Given the description of an element on the screen output the (x, y) to click on. 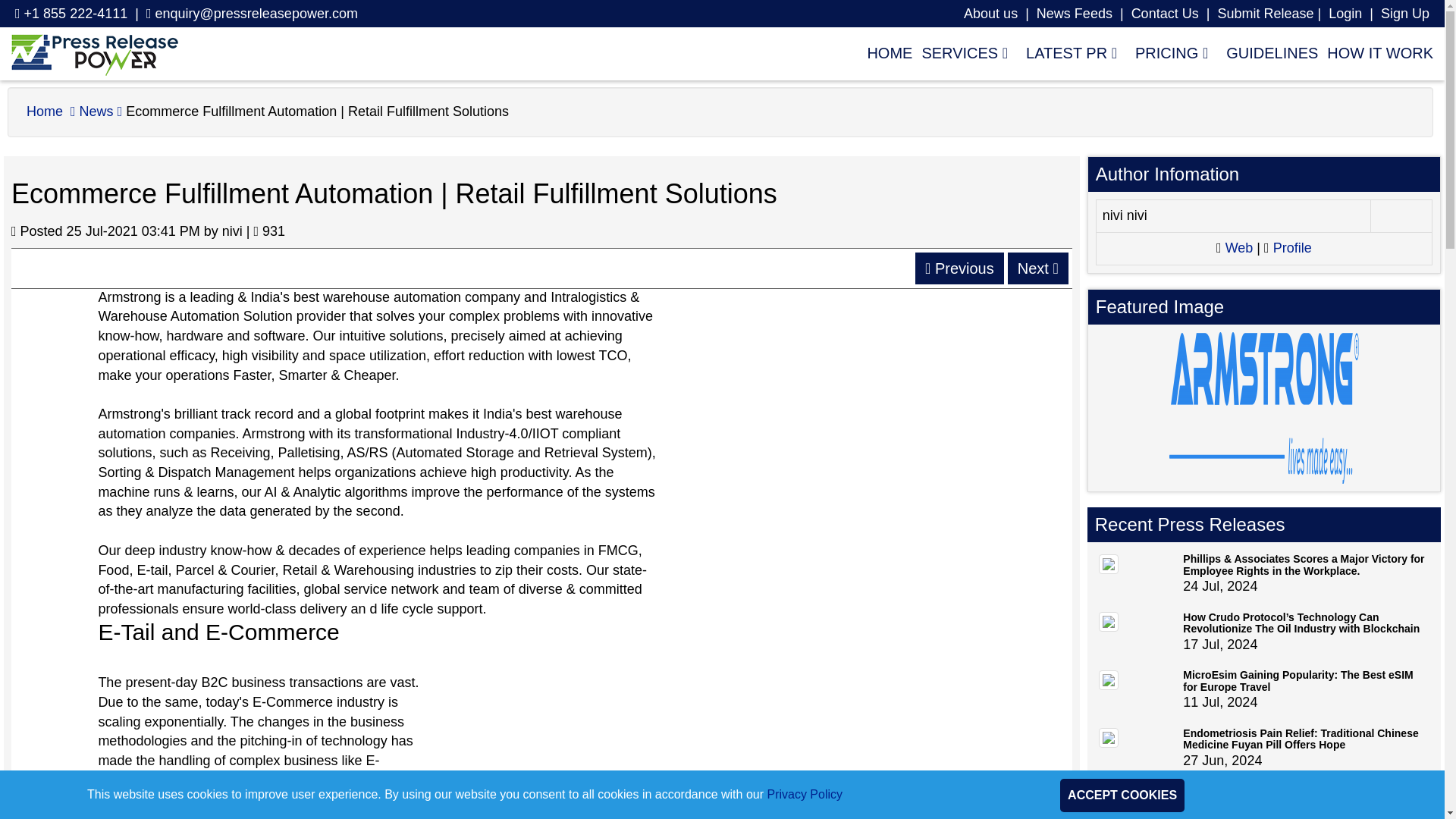
HOW IT WORK (1374, 52)
Login (1344, 13)
Login (1344, 13)
Sign Up (1404, 13)
Submit Release (1265, 13)
News Feeds (1074, 13)
LATEST PR (1070, 52)
SERVICES (964, 52)
HOME (884, 52)
GUIDELINES (1267, 52)
